Given the description of an element on the screen output the (x, y) to click on. 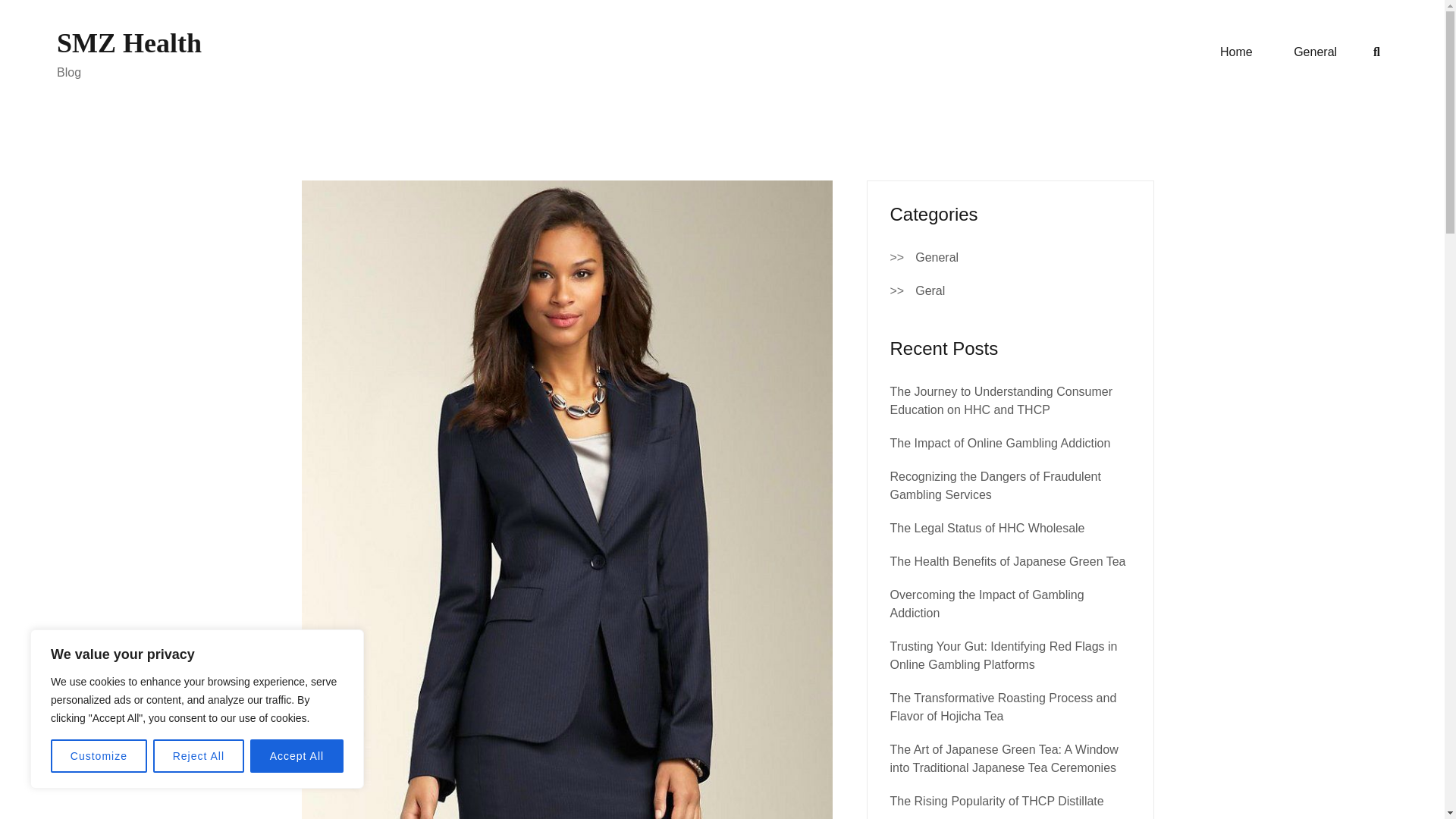
Accept All (296, 756)
The Legal Status of HHC Wholesale (986, 527)
General (936, 257)
SMZ Health (129, 42)
The Health Benefits of Japanese Green Tea (1007, 561)
Customize (98, 756)
The Impact of Online Gambling Addiction (999, 442)
Recognizing the Dangers of Fraudulent Gambling Services (994, 485)
Home (1236, 52)
